Given the description of an element on the screen output the (x, y) to click on. 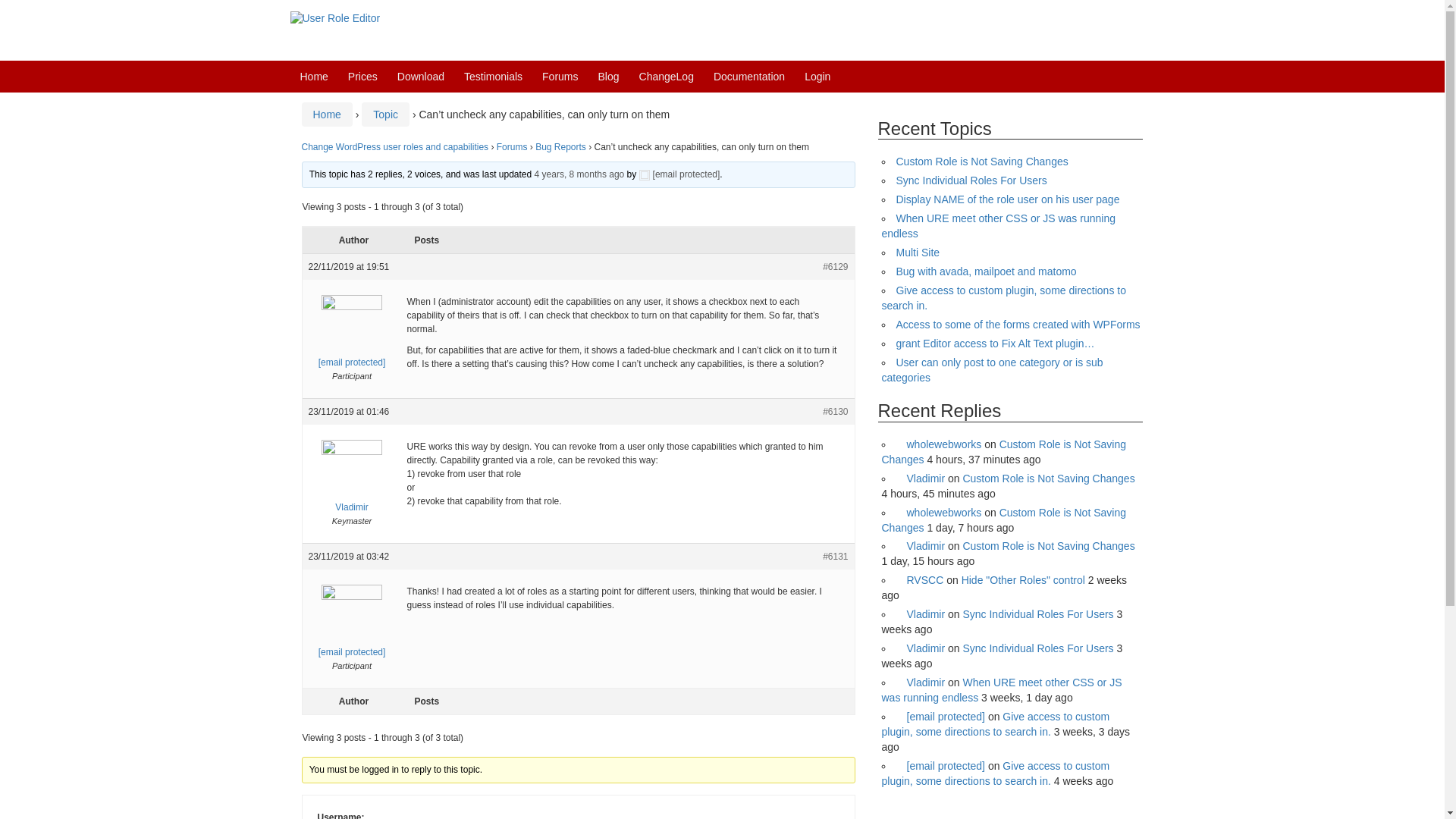
User can only post to one category or is sub categories (991, 370)
Prices (362, 76)
Custom Role is Not Saving Changes (982, 161)
Login (817, 76)
List of changes grouped by versions numbers and update dates (666, 76)
User Role Editor (334, 18)
Topic (384, 114)
Forums (559, 76)
Users Testimonials about User Role Editor (493, 76)
Login (817, 76)
